Given the description of an element on the screen output the (x, y) to click on. 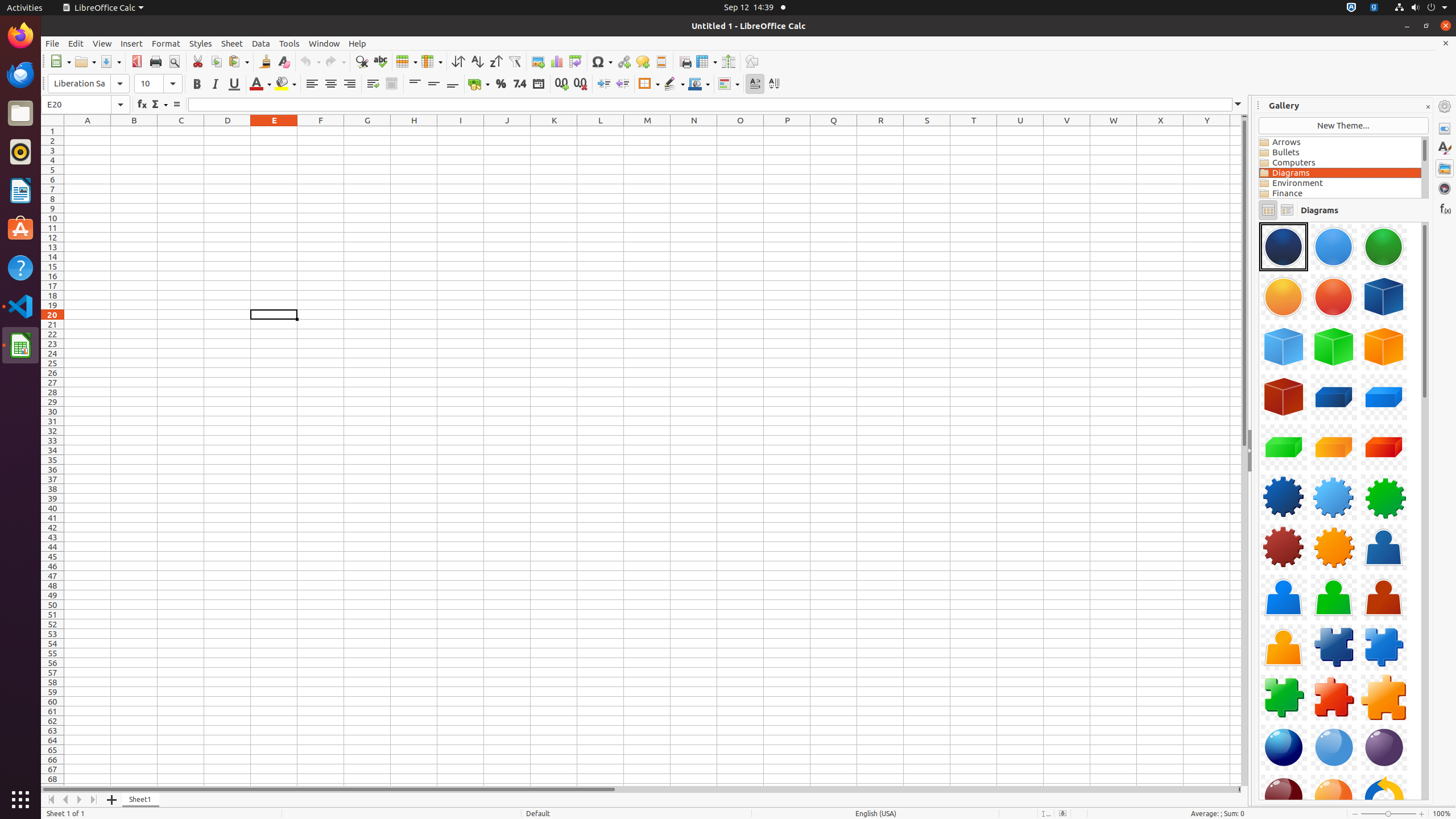
Q1 Element type: table-cell (833, 130)
Underline Element type: push-button (233, 83)
Hyperlink Element type: toggle-button (623, 61)
Gallery Element type: radio-button (1444, 168)
Clear Element type: push-button (283, 61)
